Given the description of an element on the screen output the (x, y) to click on. 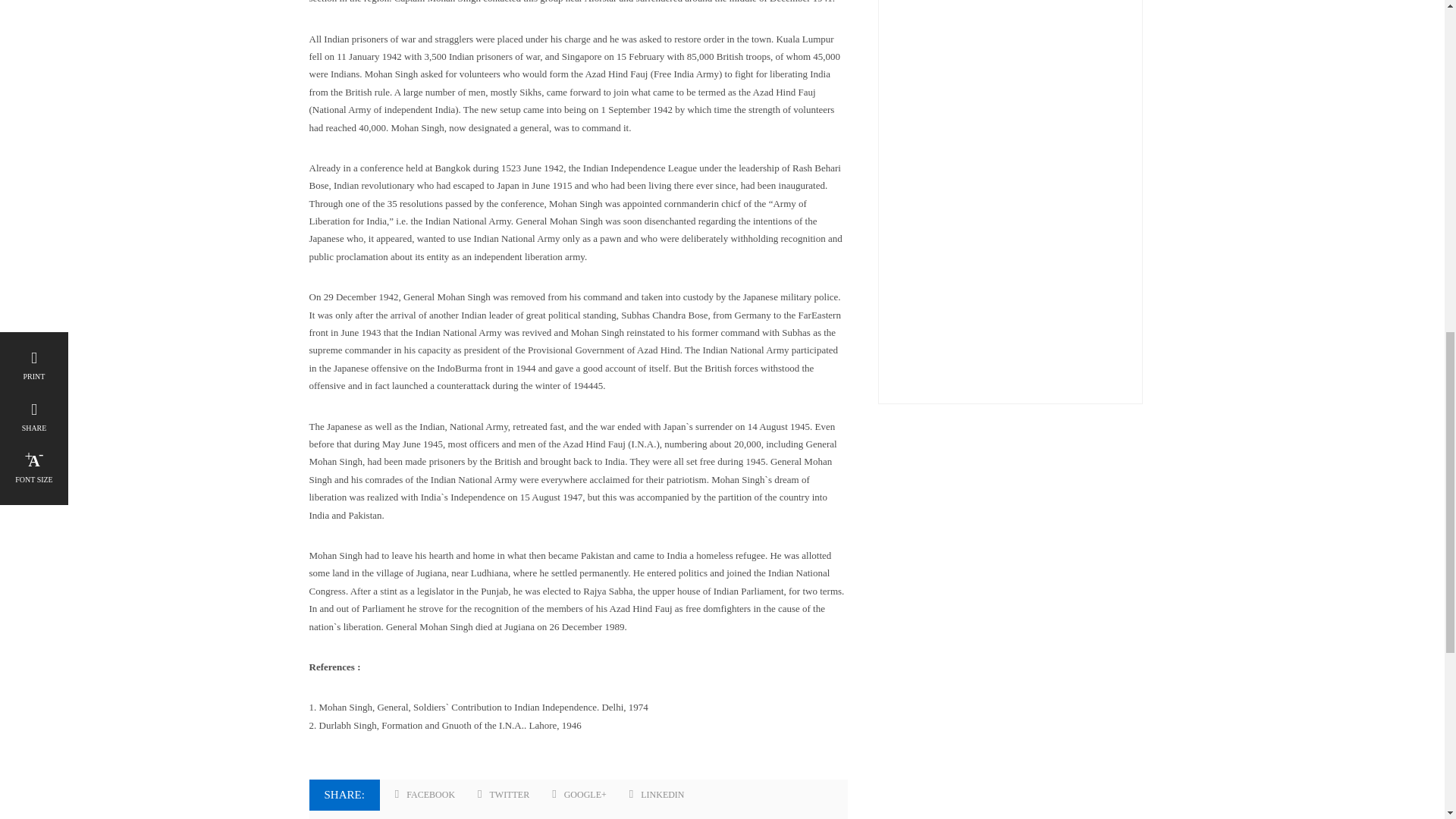
Share toFacebook (424, 795)
Share toLinkedin (656, 795)
Share toTwitter (503, 795)
